Given the description of an element on the screen output the (x, y) to click on. 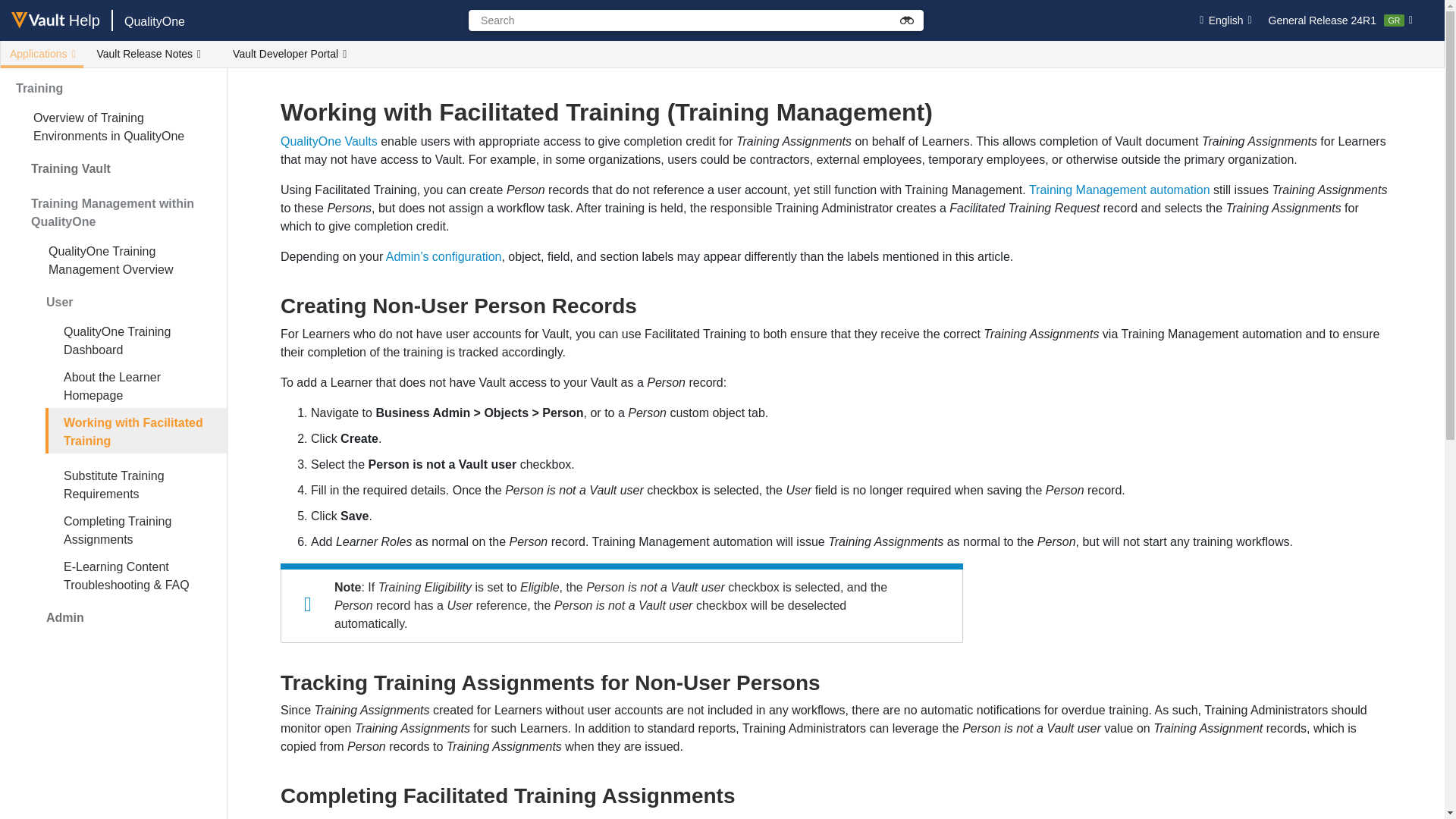
Substitute Training Requirements (136, 483)
About the Learner Homepage (136, 384)
Completing Training Assignments (136, 529)
QualityOne Training Management Overview (128, 258)
Return to Vault Help Home (60, 20)
QualityOne Training Dashboard (136, 339)
Substitute Training Requirements (136, 483)
Training (113, 88)
QualityOne Training Management Overview (128, 258)
Working with Facilitated Training (136, 430)
User (128, 302)
Admin (128, 617)
Vault Developer Portal (288, 53)
QualityOne (153, 20)
